Given the description of an element on the screen output the (x, y) to click on. 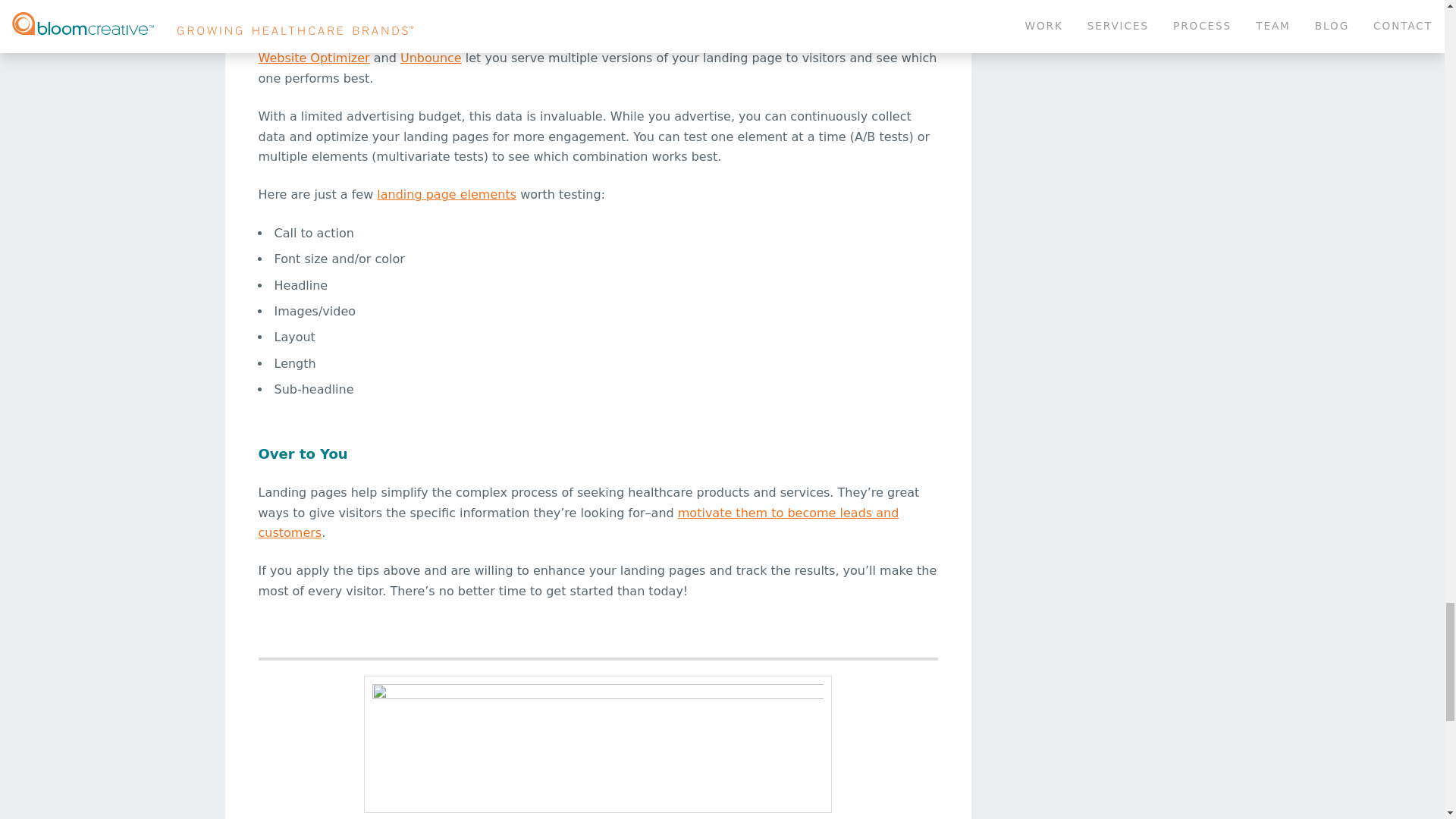
Unbounce (430, 57)
motivate them to become leads and customers (577, 522)
landing page elements (446, 194)
Visual Website Optimizer (584, 48)
